Given the description of an element on the screen output the (x, y) to click on. 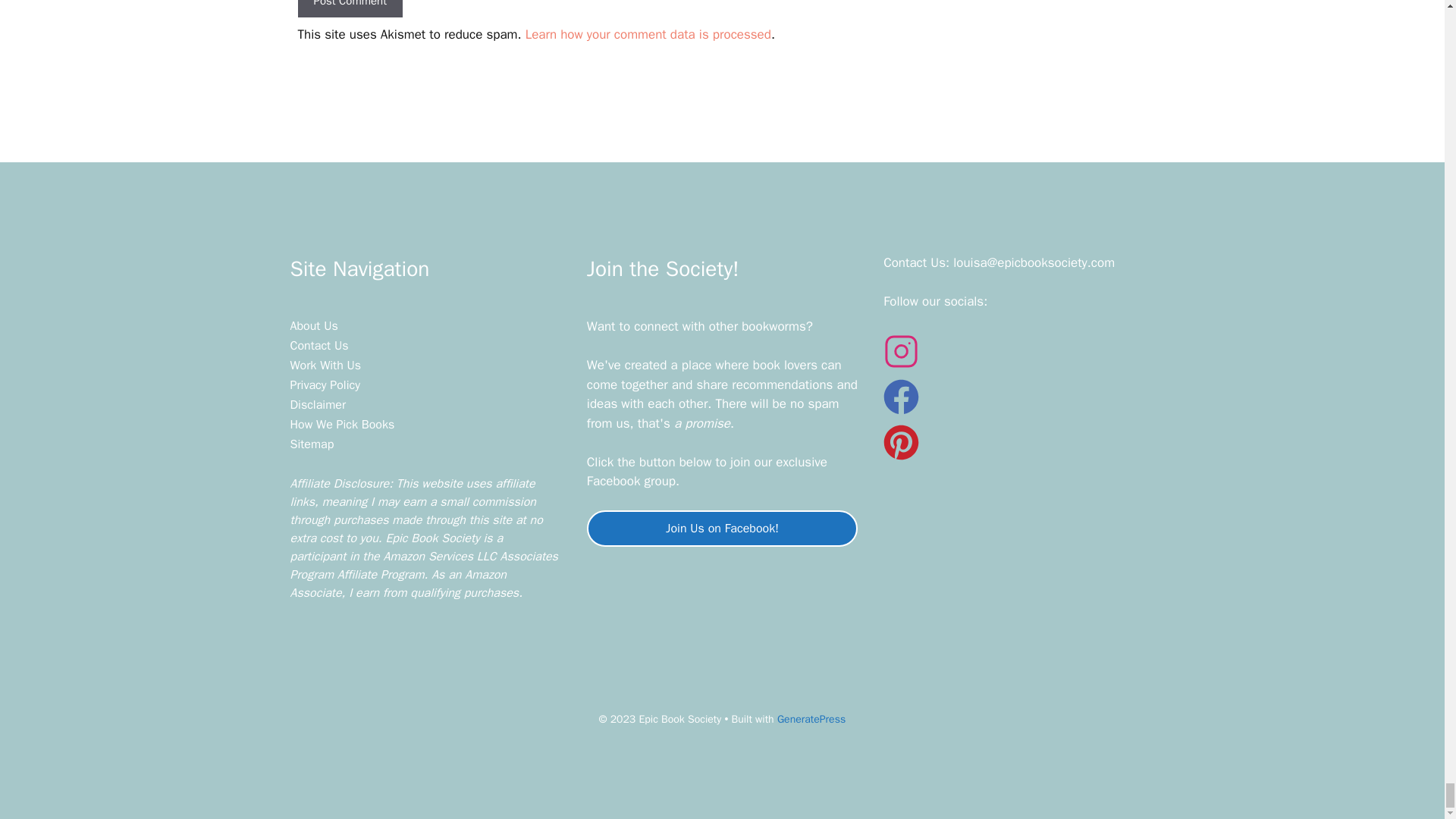
Post Comment (349, 9)
